Given the description of an element on the screen output the (x, y) to click on. 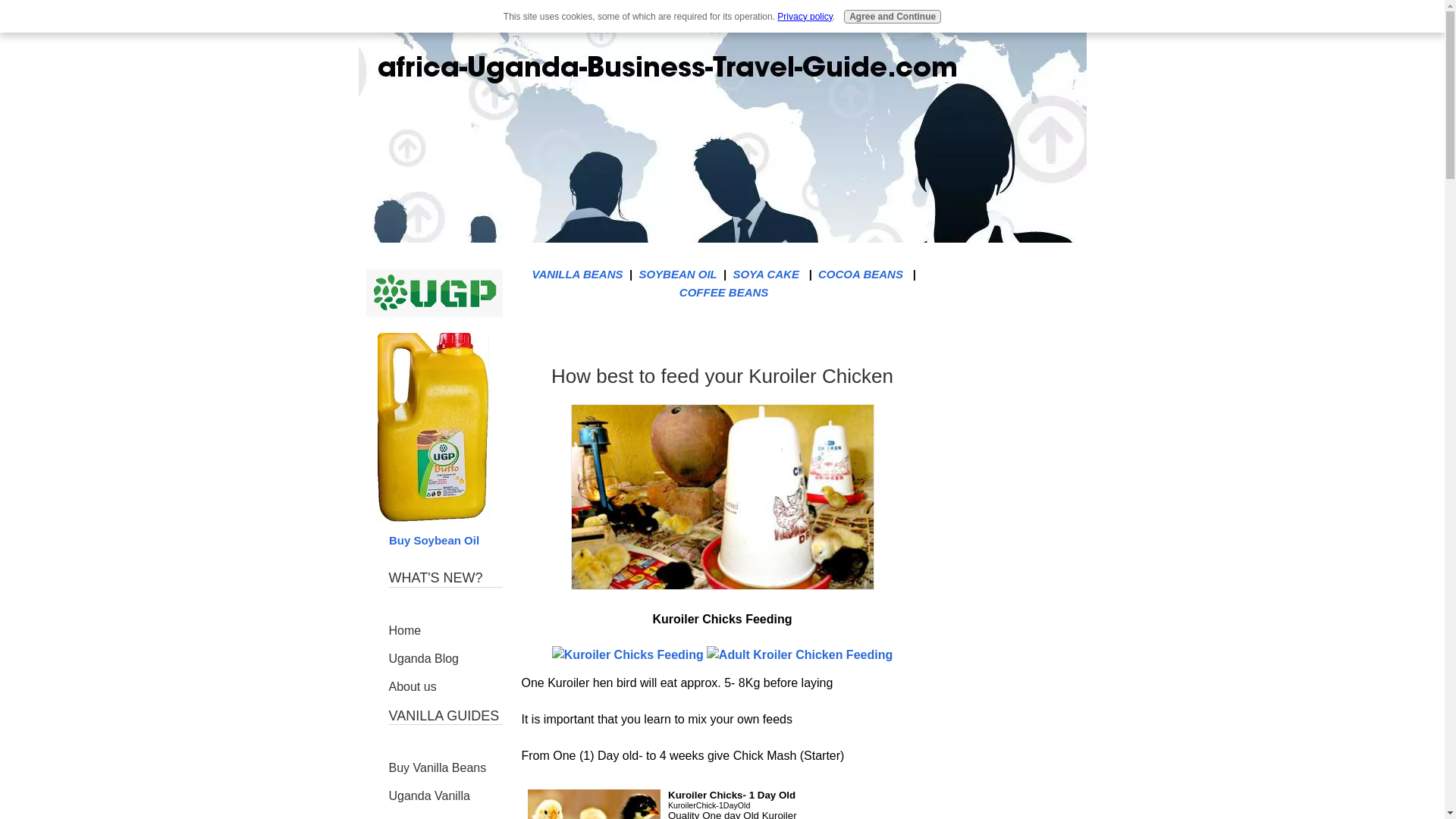
Go to UGP Traders Uganda Limited Company Profile (433, 313)
Adult Kroiler Chicken Feeding  (799, 655)
About Vanilla (445, 815)
Buy Soybean Oil (433, 531)
Uganda Vanilla (445, 795)
Kuroiler Chicks Feeding  (721, 495)
Uganda Blog (445, 658)
Home (445, 630)
About us (445, 687)
COFFEE BEANS (723, 291)
